Given the description of an element on the screen output the (x, y) to click on. 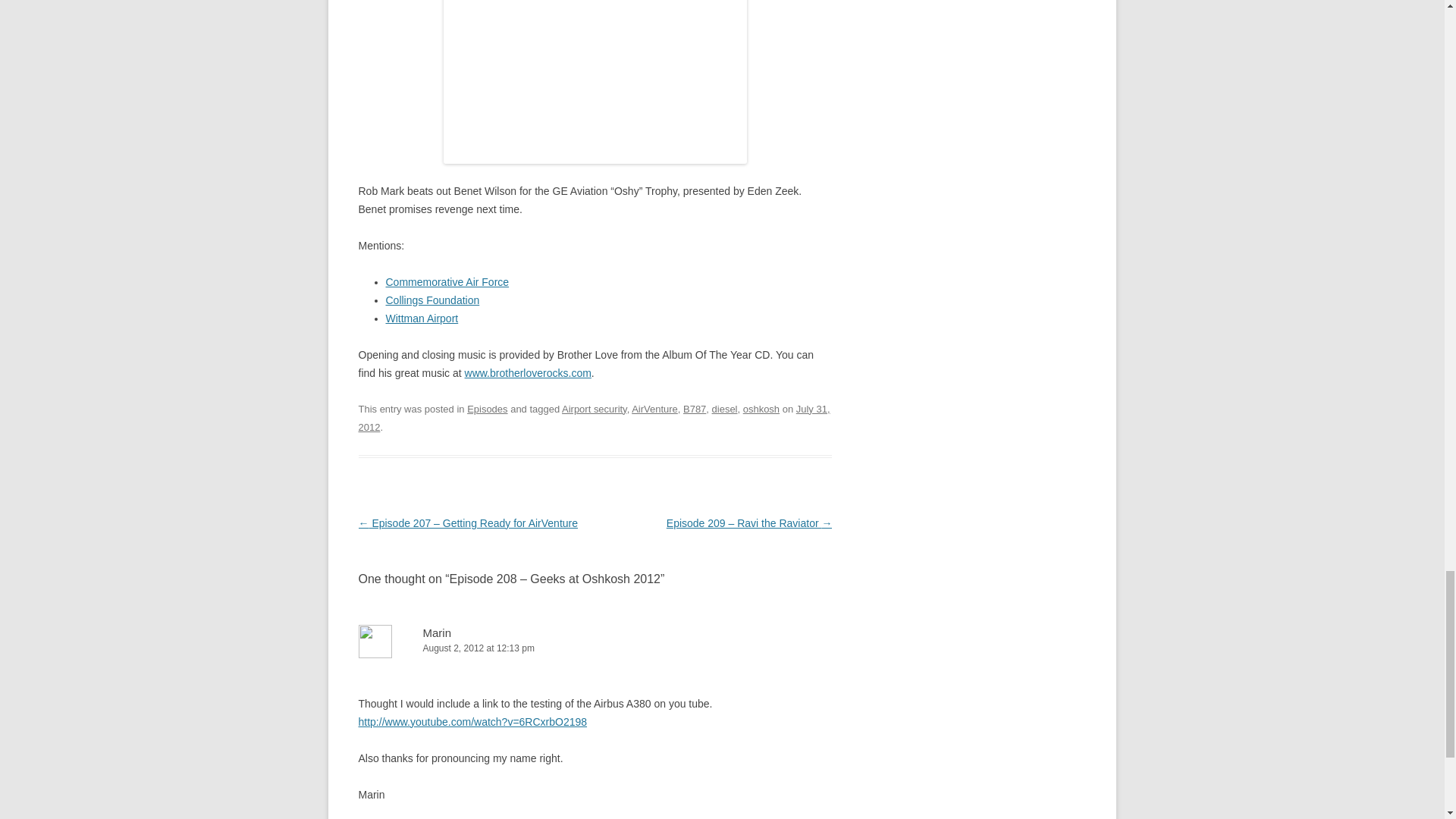
4:48 pm (593, 418)
